Given the description of an element on the screen output the (x, y) to click on. 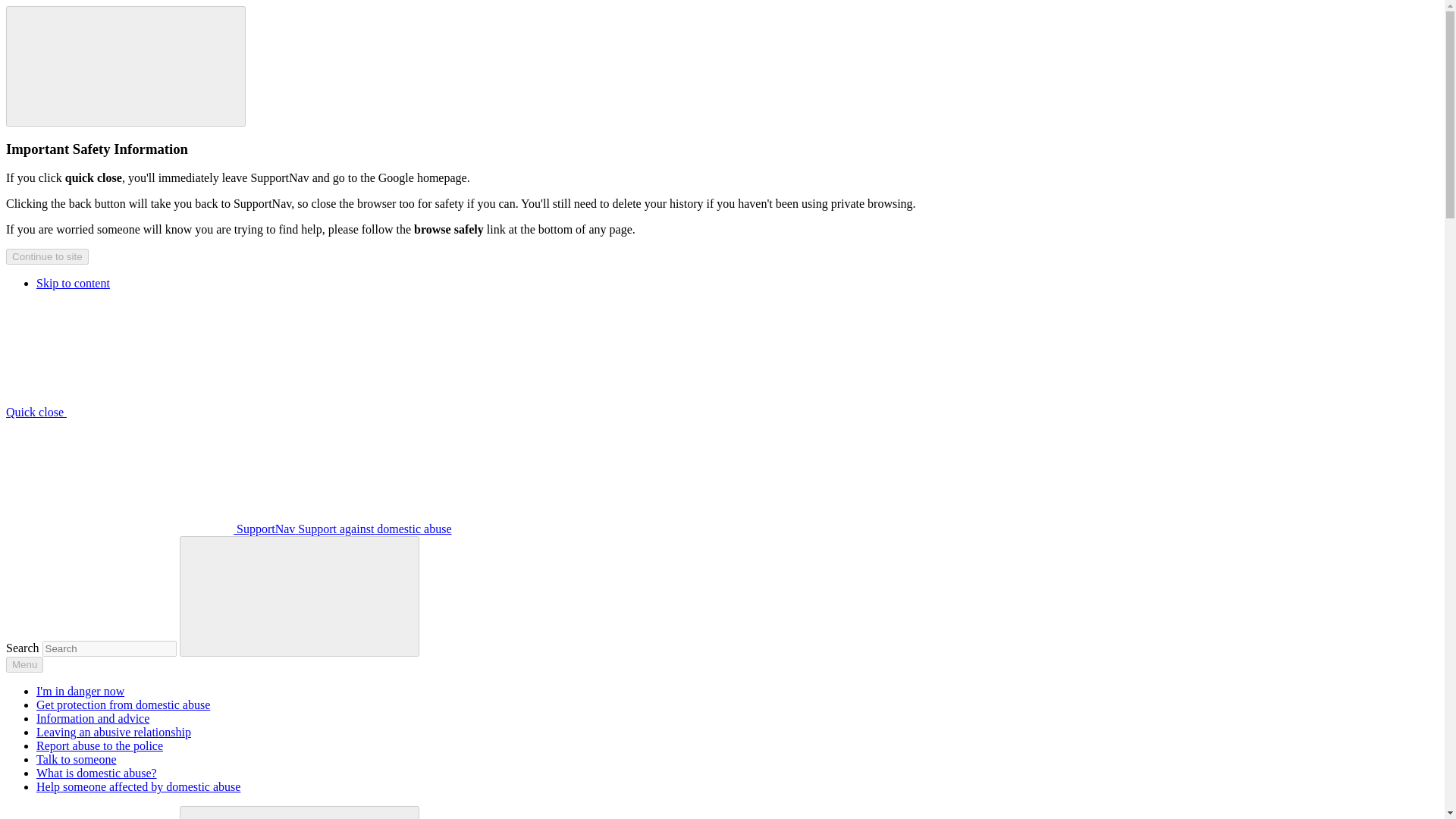
Help someone affected by domestic abuse (138, 786)
Menu (24, 664)
Information and advice (92, 717)
Quick close (149, 411)
Talk to someone (76, 758)
Leaving an abusive relationship (113, 731)
Search (299, 812)
Get protection from domestic abuse (122, 704)
Search (299, 594)
SupportNav Support against domestic abuse (228, 528)
I'm in danger now (79, 690)
What is domestic abuse? (96, 772)
Report abuse to the police (99, 745)
Search (299, 813)
Search (299, 596)
